Given the description of an element on the screen output the (x, y) to click on. 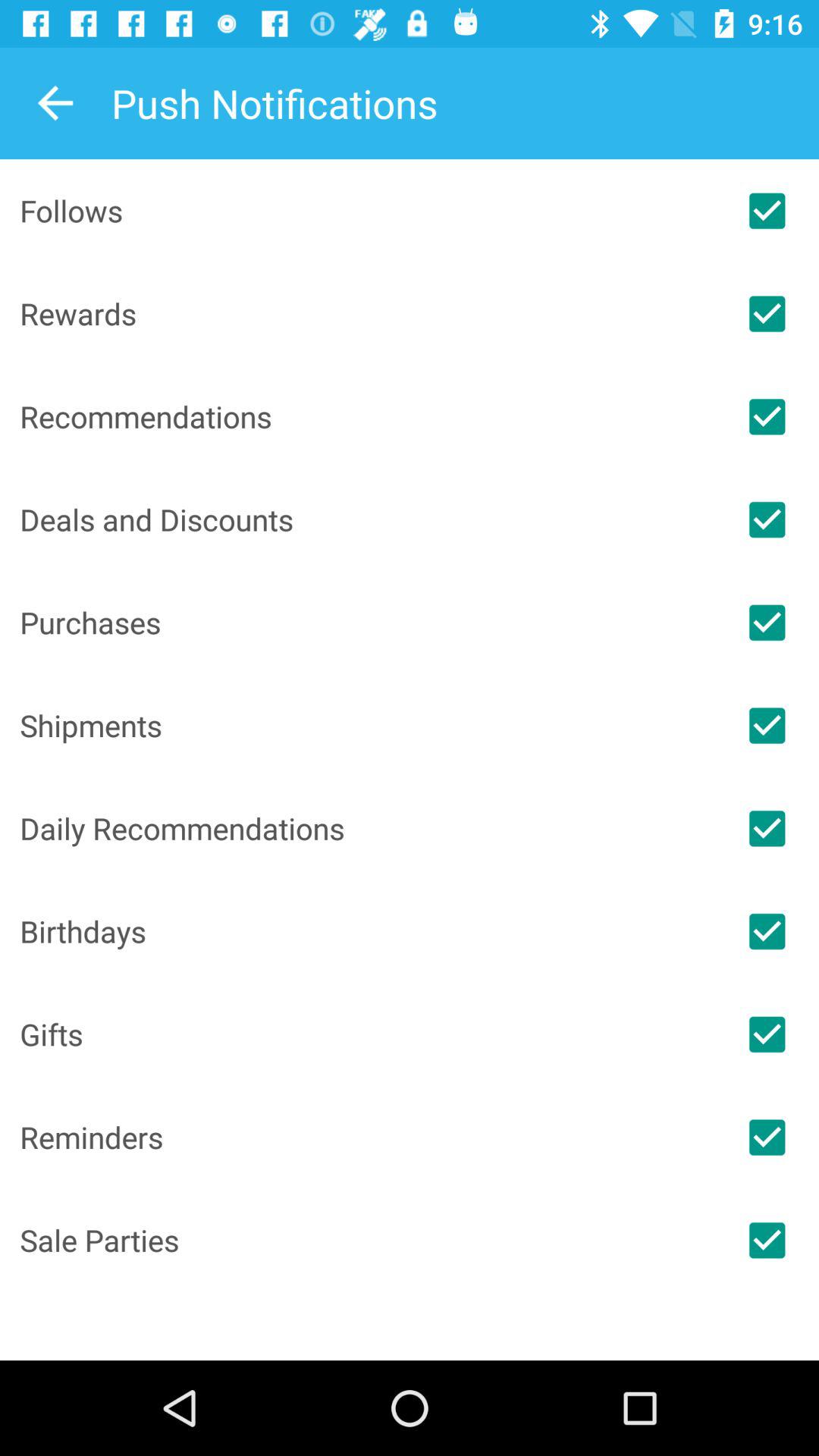
select daily recommendations (767, 828)
